Given the description of an element on the screen output the (x, y) to click on. 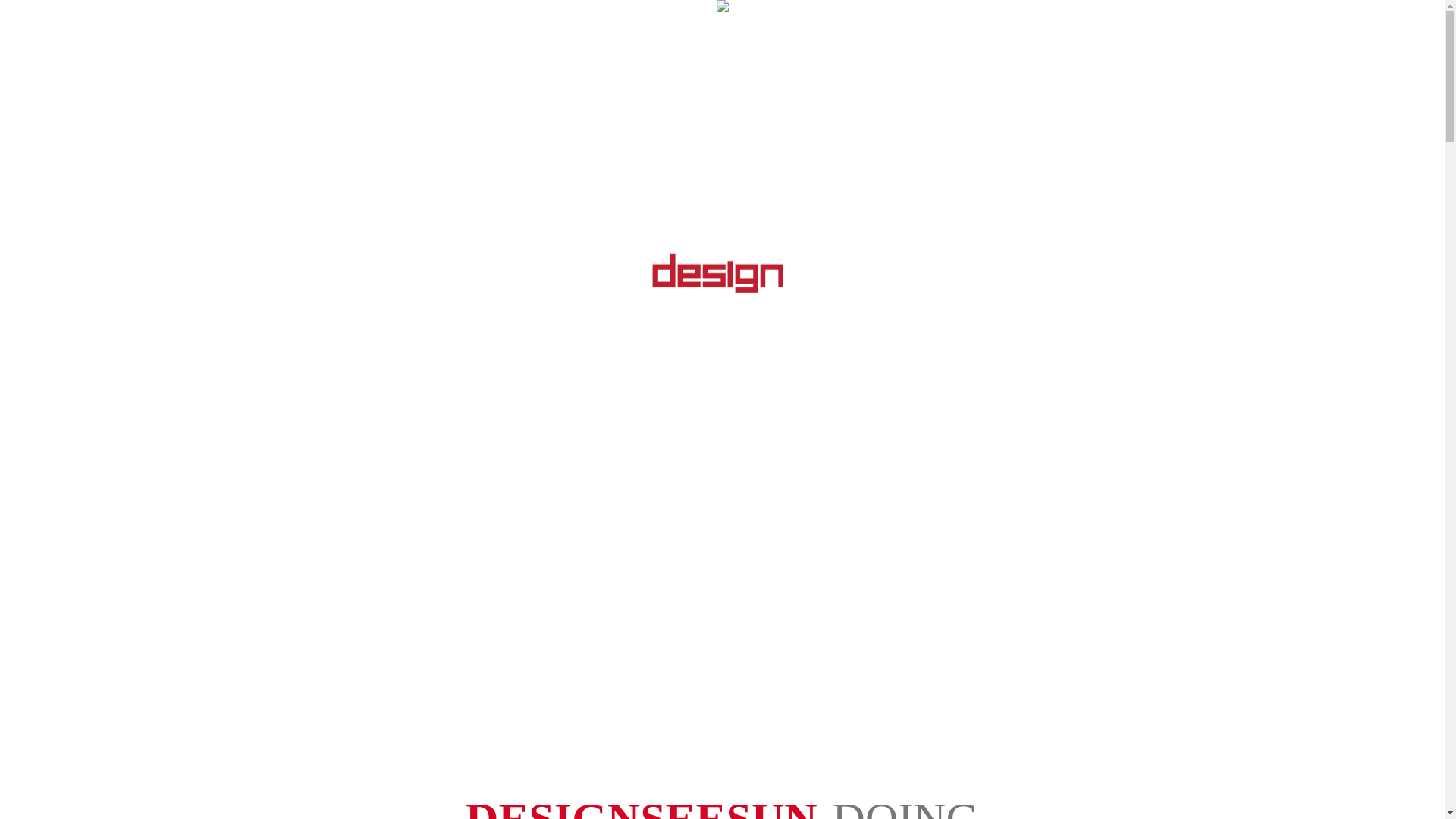
PHOTO Element type: text (615, 34)
